Given the description of an element on the screen output the (x, y) to click on. 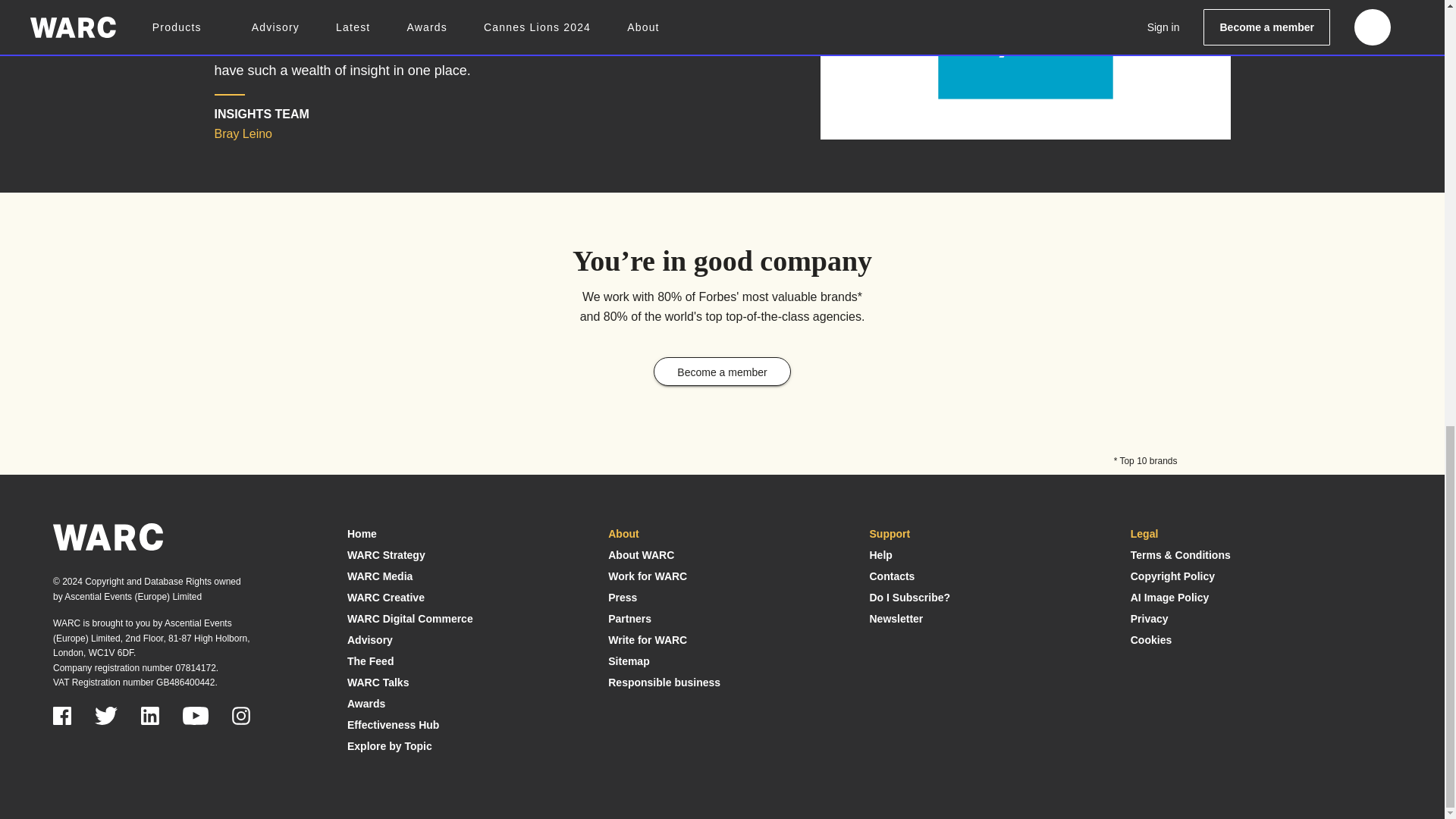
Bray Leino (1025, 55)
